Given the description of an element on the screen output the (x, y) to click on. 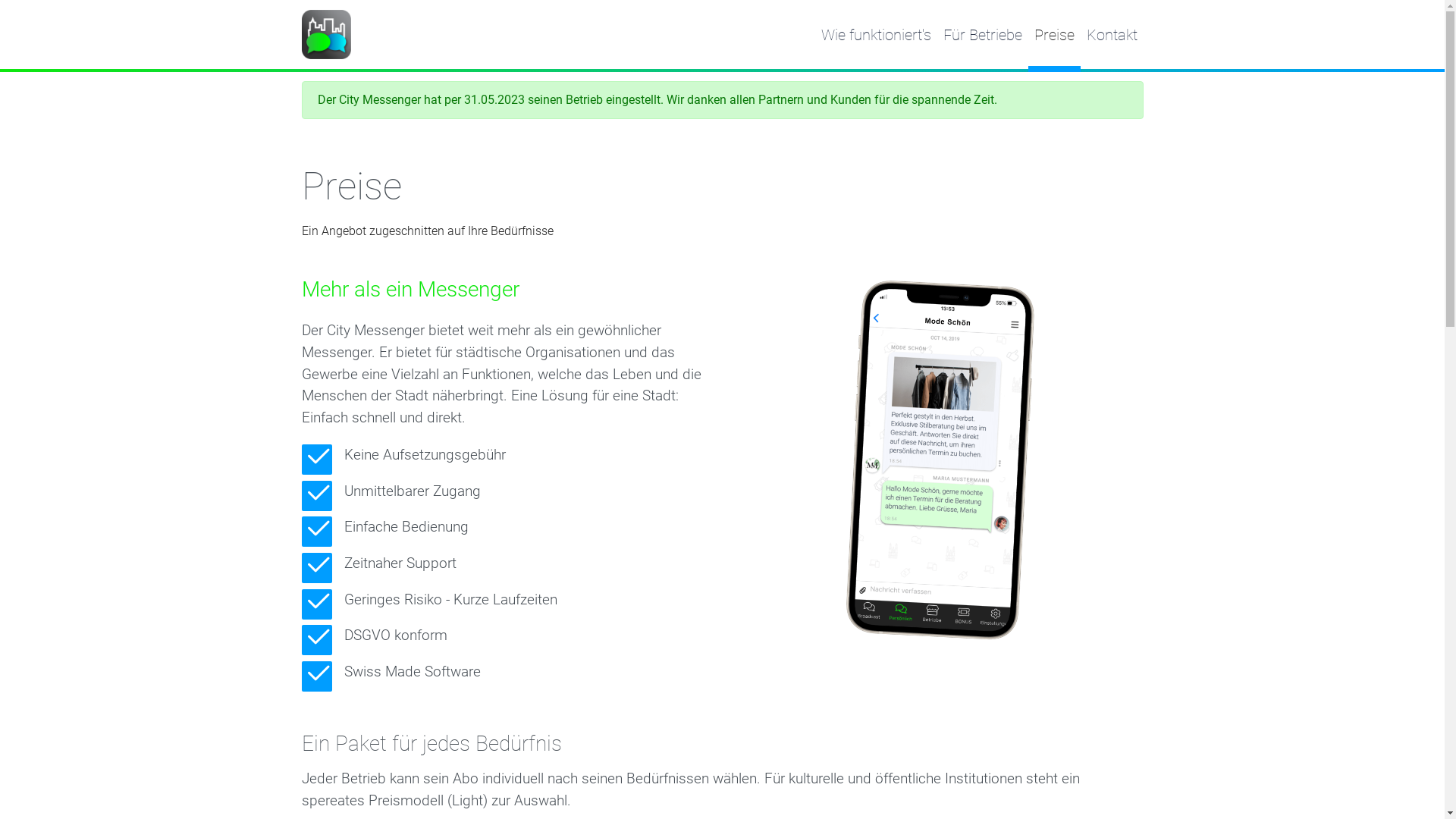
Kontakt Element type: text (1110, 33)
Preise Element type: text (1054, 33)
Wie funktioniert's Element type: text (875, 33)
